Given the description of an element on the screen output the (x, y) to click on. 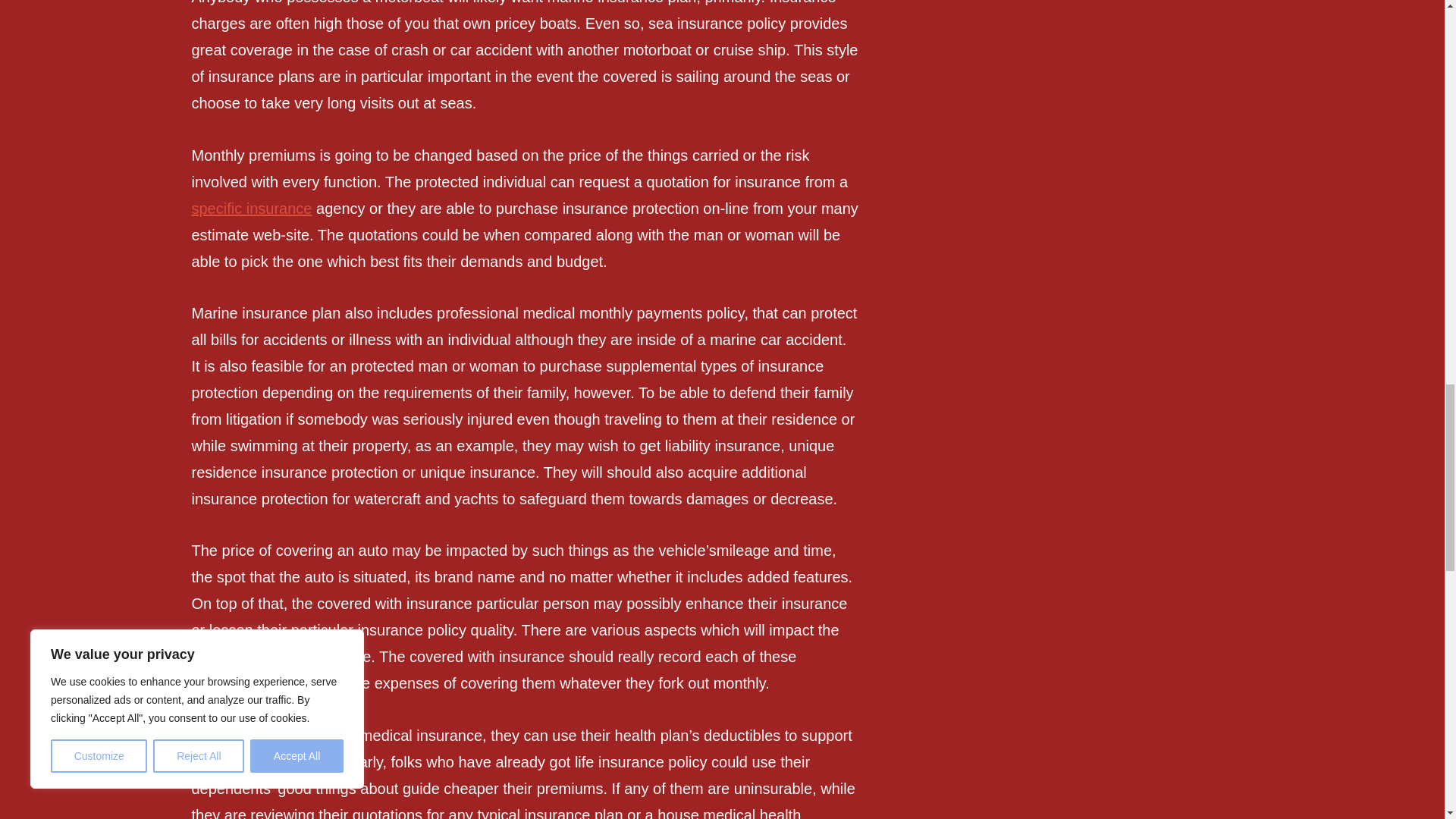
specific insurance (250, 208)
